Given the description of an element on the screen output the (x, y) to click on. 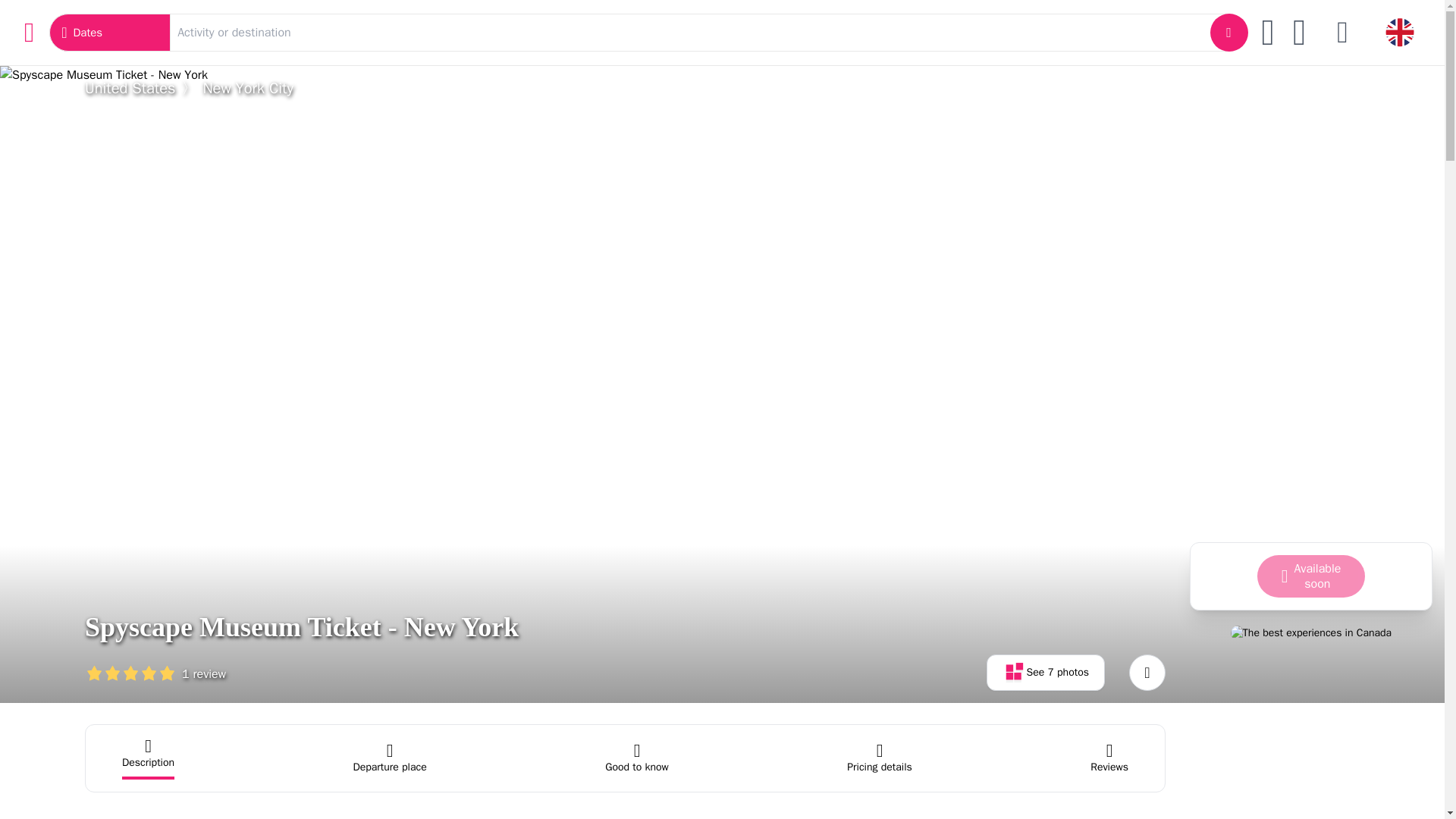
Pricing details (879, 758)
Departure place (389, 758)
Description (148, 758)
Departure place (389, 758)
Reviews (1109, 758)
1 review (154, 672)
New York City (247, 87)
Good to know (636, 758)
Available soon (1311, 576)
Reviews (1109, 758)
